Given the description of an element on the screen output the (x, y) to click on. 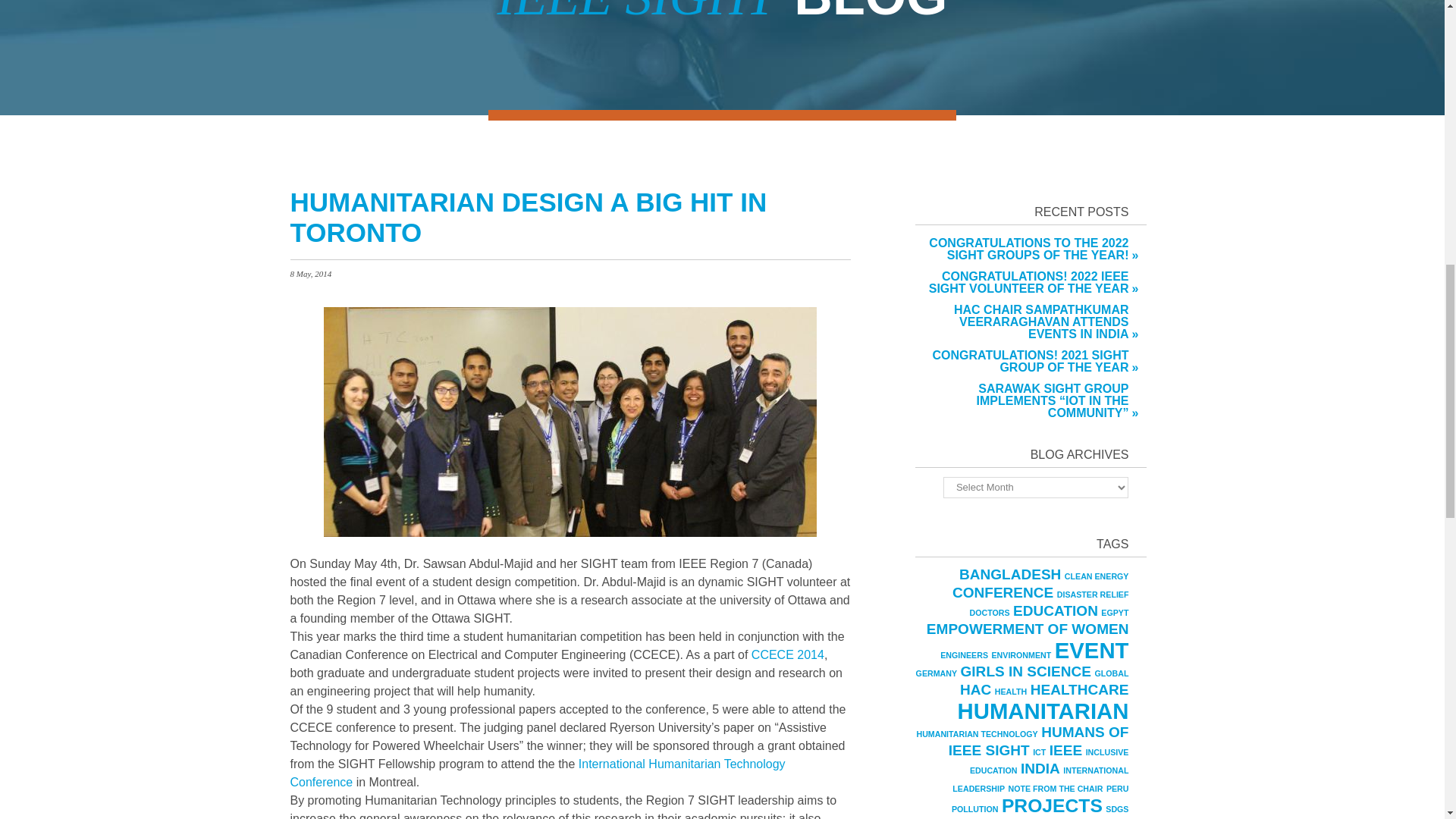
CCECE 2014 (787, 653)
Humanitarian Design a Big Hit in Toronto (528, 216)
EDUCATION (1055, 610)
CONGRATULATIONS TO THE 2022 SIGHT GROUPS OF THE YEAR! (1022, 249)
CONFERENCE (1002, 592)
International Humanitarian Technology Conference (536, 771)
DOCTORS (989, 612)
HUMANITARIAN DESIGN A BIG HIT IN TORONTO (528, 216)
CCECE 2014 (787, 653)
DISASTER RELIEF (1093, 593)
